Given the description of an element on the screen output the (x, y) to click on. 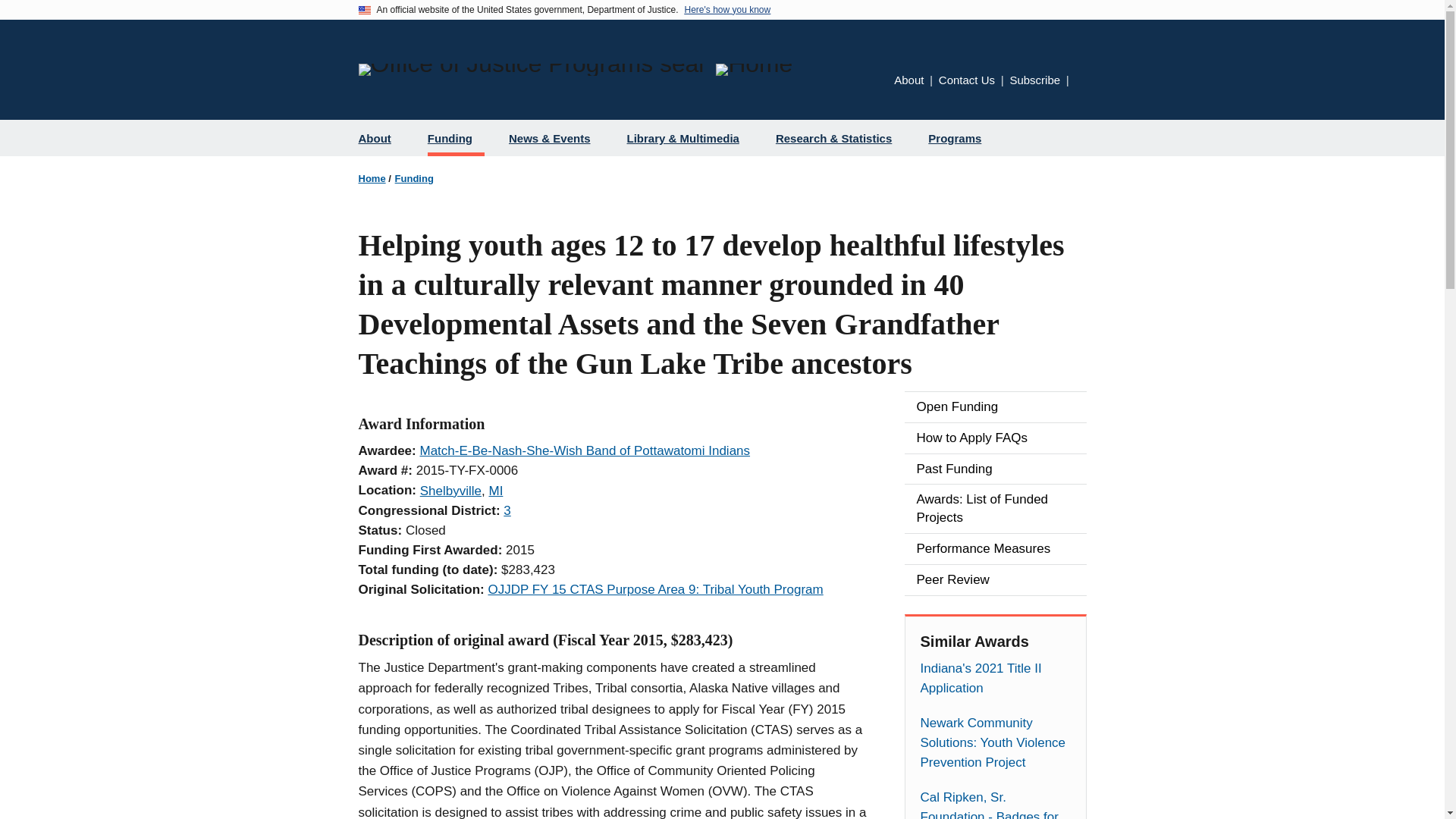
Contact Us (966, 79)
Funding (413, 178)
Programs (960, 138)
Peer Review (995, 580)
About (380, 138)
Indiana's 2021 Title II Application (995, 678)
Past Funding (995, 469)
Share (1080, 81)
Home (371, 178)
OJJDP FY 15 CTAS Purpose Area 9: Tribal Youth Program (654, 589)
